Given the description of an element on the screen output the (x, y) to click on. 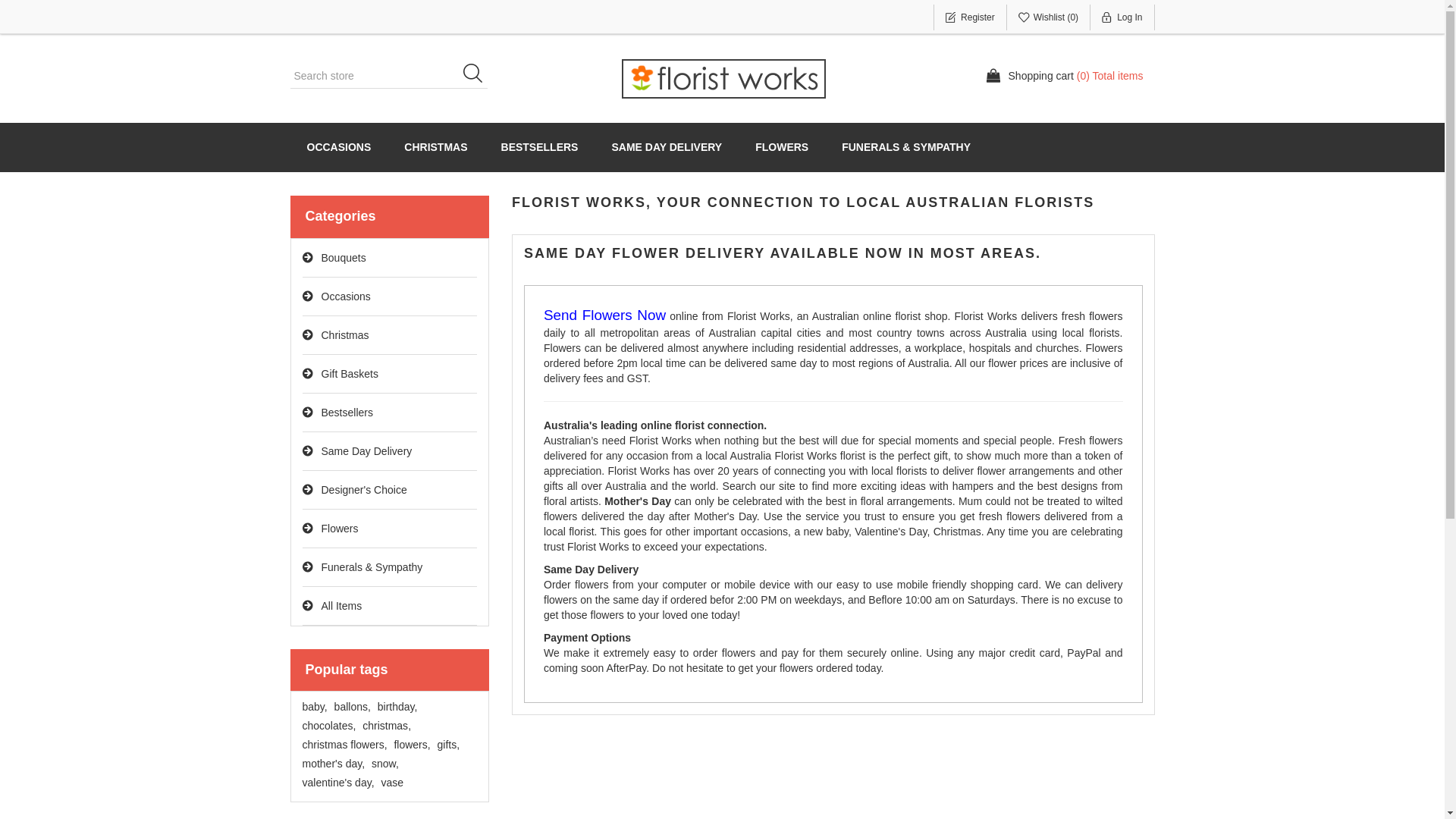
flowers, Element type: text (411, 744)
Designer's Choice Element type: text (388, 489)
Funerals & Sympathy Element type: text (388, 567)
birthday, Element type: text (397, 706)
Christmas Element type: text (388, 335)
Log In Element type: text (1122, 17)
OCCASIONS Element type: text (338, 147)
All Items Element type: text (388, 605)
chocolates, Element type: text (328, 725)
CHRISTMAS Element type: text (435, 147)
vase Element type: text (391, 782)
christmas, Element type: text (386, 725)
Shopping cart (0) Total items Element type: text (1064, 75)
Occasions Element type: text (388, 296)
FLOWERS Element type: text (781, 147)
snow, Element type: text (384, 763)
BESTSELLERS Element type: text (539, 147)
Bouquets Element type: text (388, 257)
baby, Element type: text (313, 706)
ballons, Element type: text (352, 706)
SAME DAY DELIVERY Element type: text (666, 147)
Flowers Element type: text (388, 528)
Same Day Delivery Element type: text (388, 451)
FUNERALS & SYMPATHY Element type: text (906, 147)
Bestsellers Element type: text (388, 412)
christmas flowers, Element type: text (343, 744)
Wishlist (0) Element type: text (1048, 17)
gifts, Element type: text (448, 744)
Register Element type: text (970, 17)
Send Flowers Now Element type: text (604, 316)
mother's day, Element type: text (332, 763)
valentine's day, Element type: text (337, 782)
Gift Baskets Element type: text (388, 373)
